Given the description of an element on the screen output the (x, y) to click on. 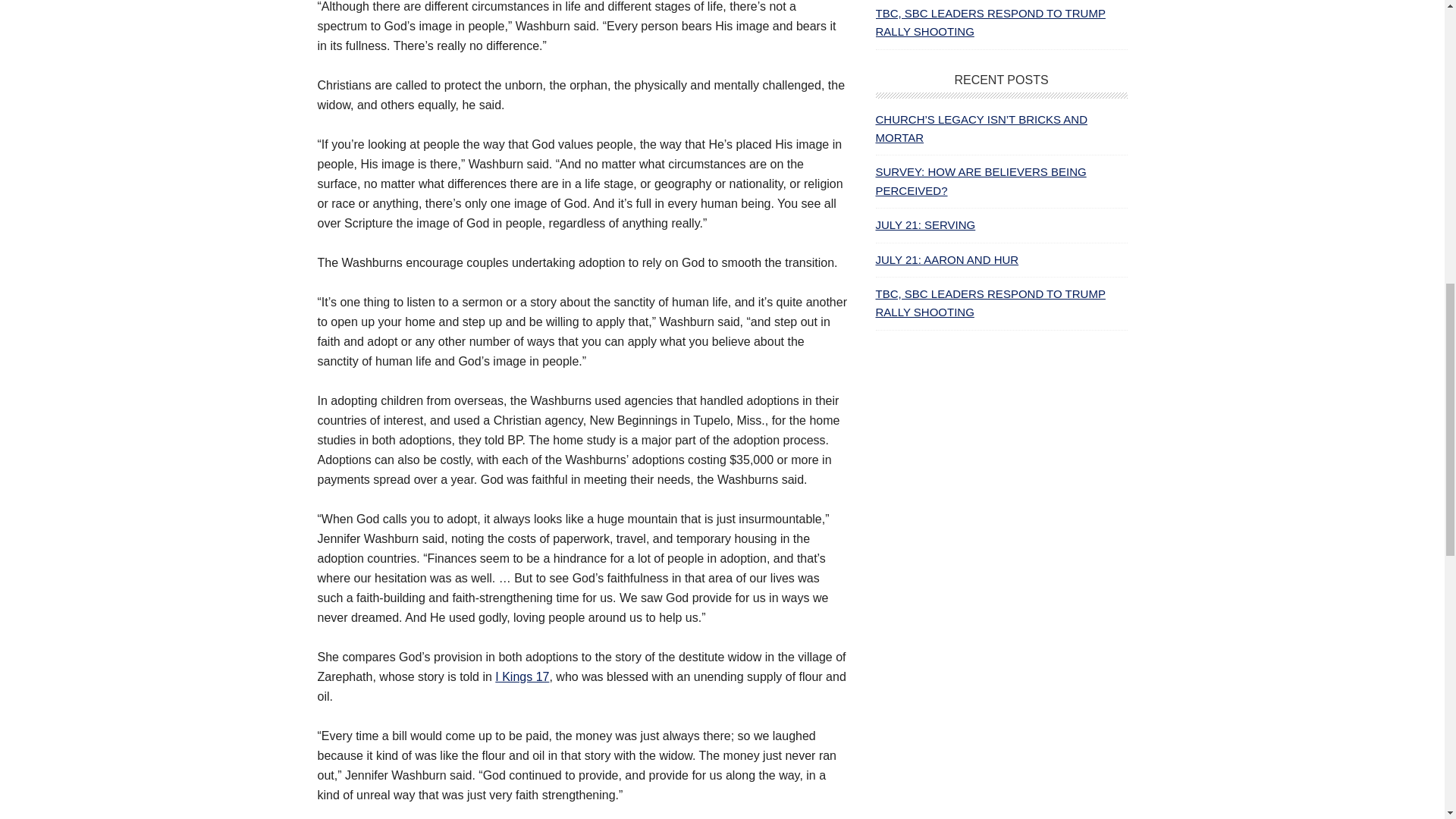
TBC, SBC LEADERS RESPOND TO TRUMP RALLY SHOOTING (990, 21)
JULY 21: SERVING (925, 224)
I Kings 17 (521, 676)
SURVEY: HOW ARE BELIEVERS BEING PERCEIVED? (980, 180)
JULY 21: AARON AND HUR (946, 259)
TBC, SBC LEADERS RESPOND TO TRUMP RALLY SHOOTING (990, 302)
